Given the description of an element on the screen output the (x, y) to click on. 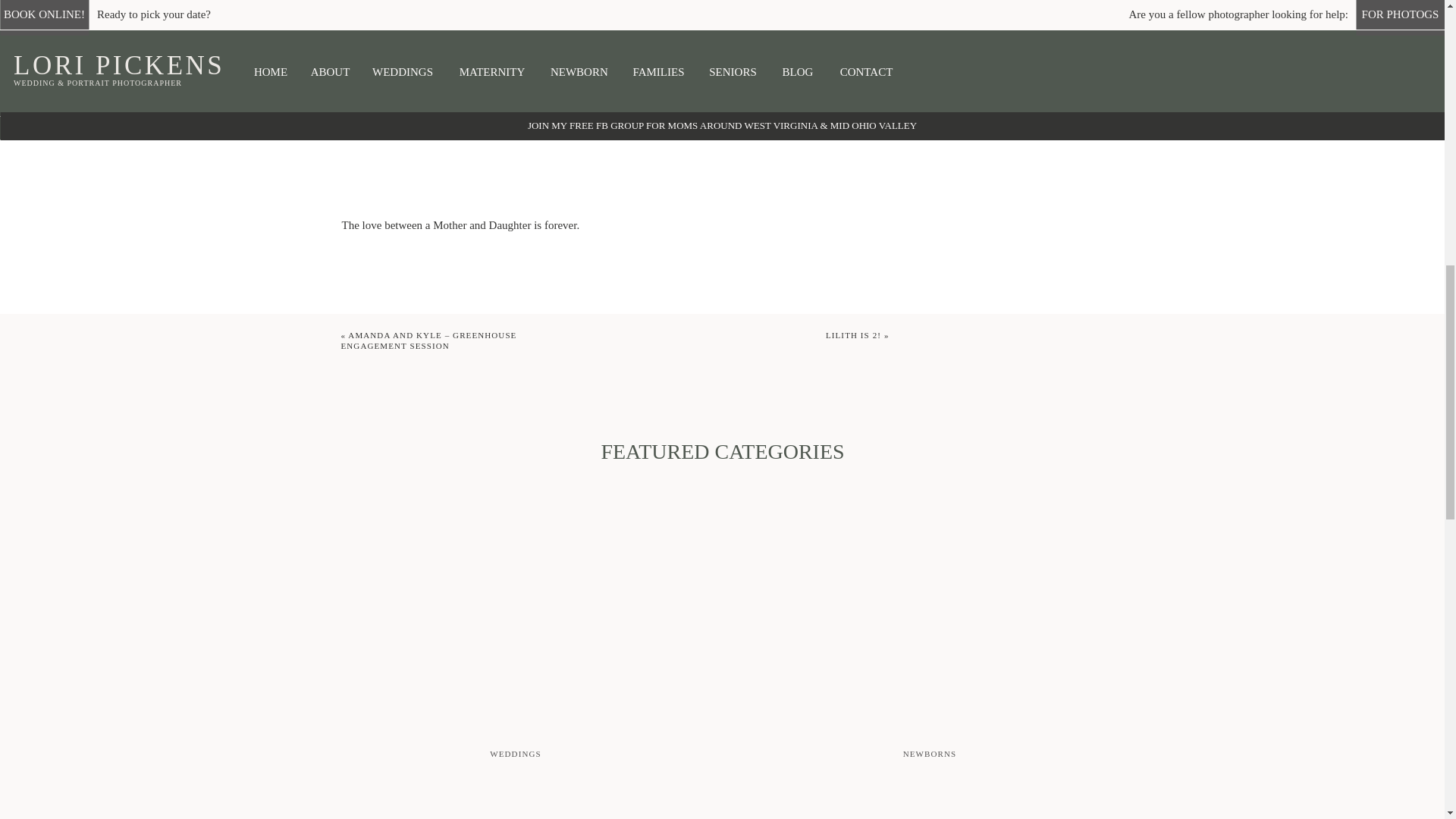
SENIORS (1122, 38)
LILITH IS 2! (852, 334)
NEWBORNS (1023, 38)
